Given the description of an element on the screen output the (x, y) to click on. 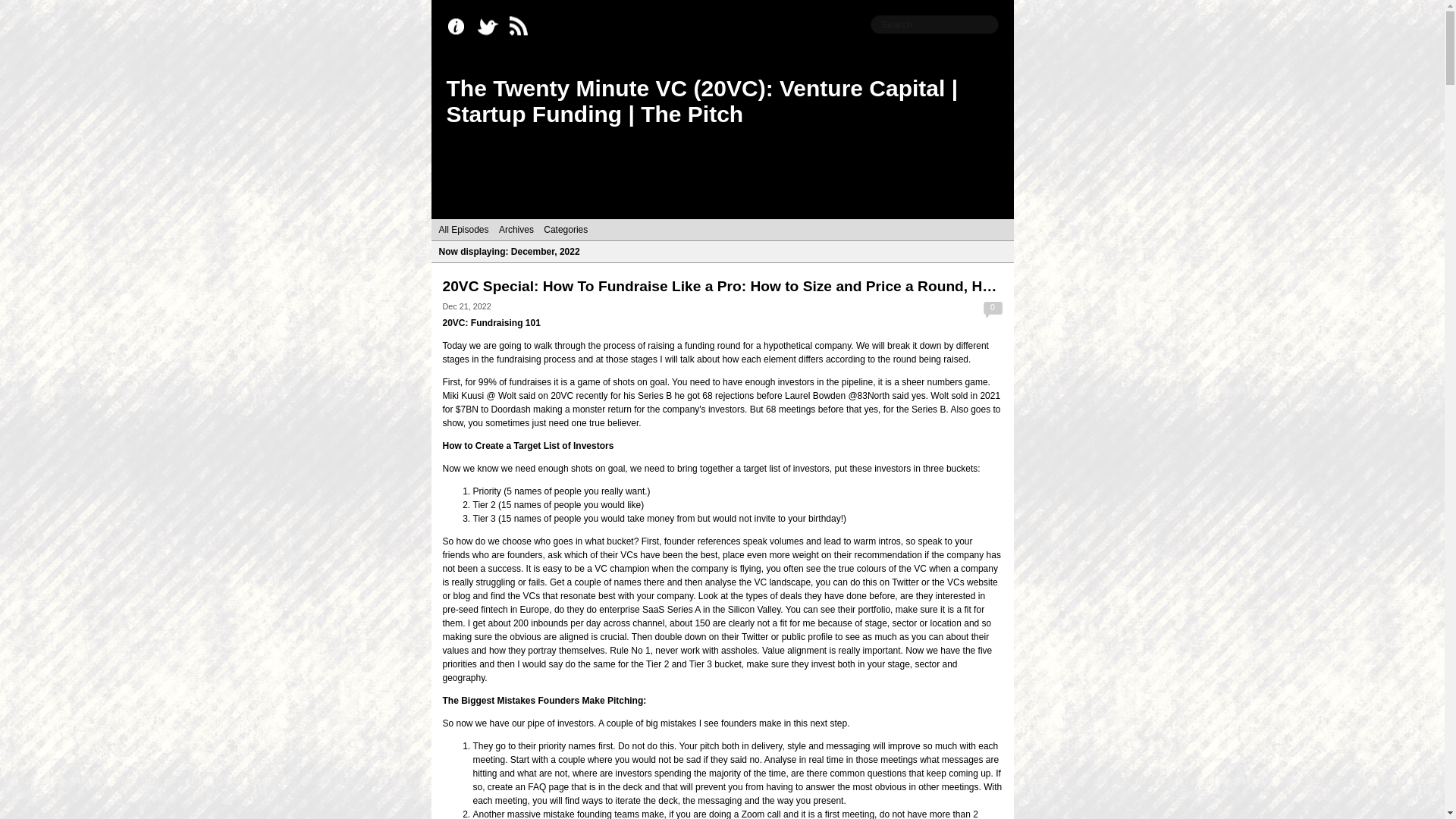
Twitter (491, 26)
RSS Feed (521, 26)
